Given the description of an element on the screen output the (x, y) to click on. 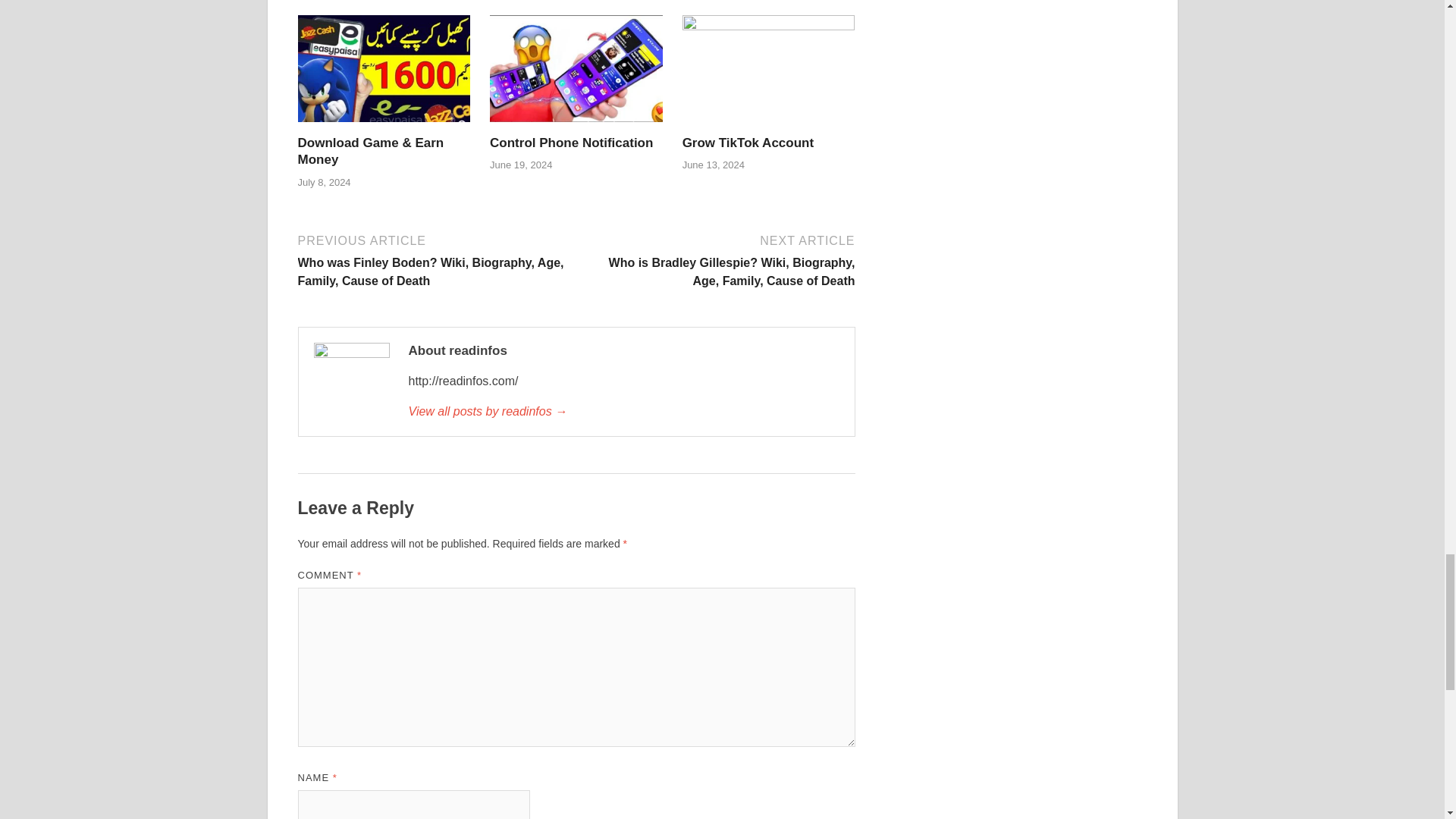
Control Phone Notification (570, 142)
readinfos (622, 411)
Grow TikTok Account (747, 142)
Control Phone Notification (570, 142)
Grow TikTok Account (769, 73)
Control Phone Notification (575, 73)
